Given the description of an element on the screen output the (x, y) to click on. 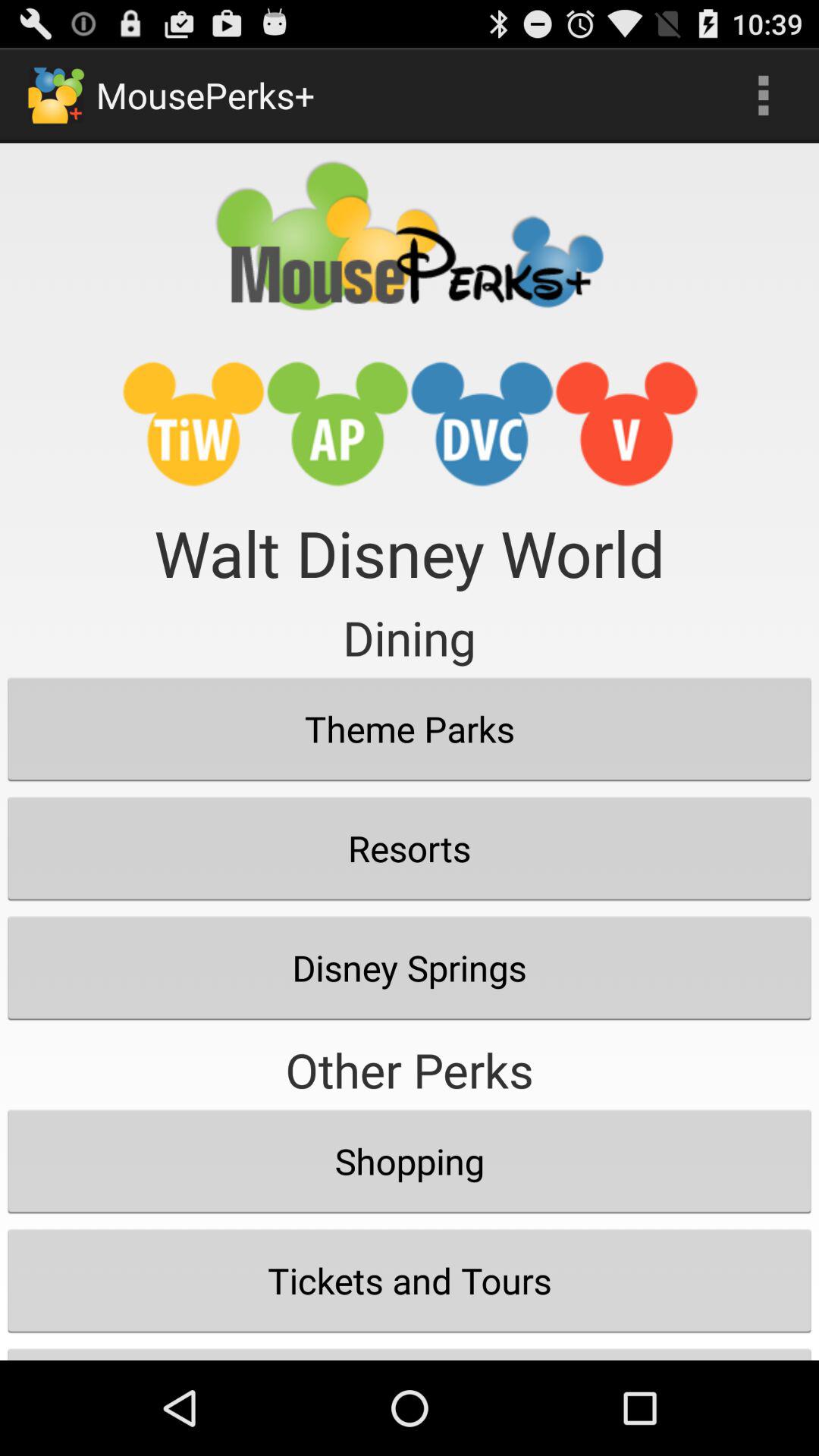
click button above the disney springs item (409, 848)
